Given the description of an element on the screen output the (x, y) to click on. 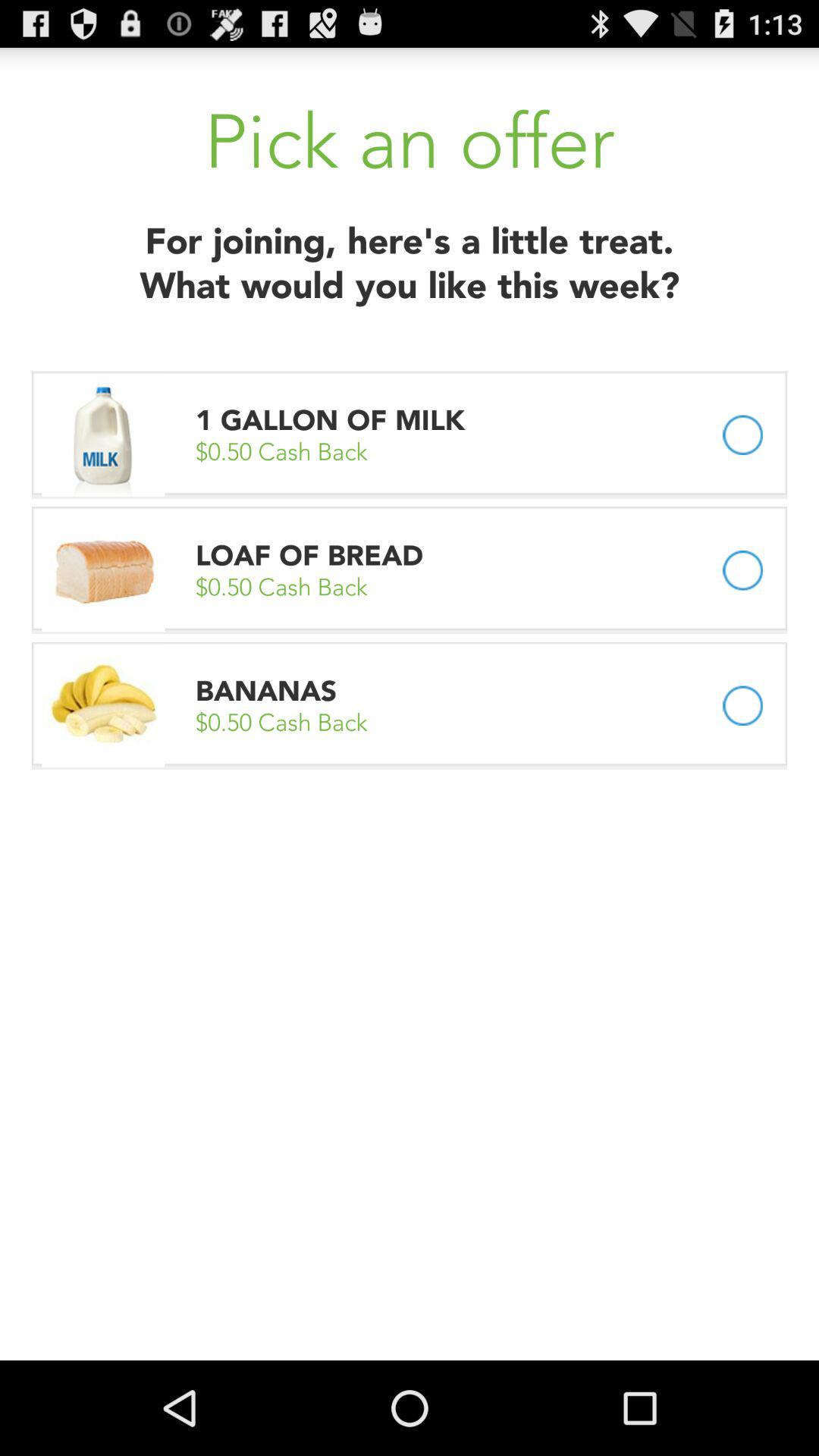
swipe to the loaf of bread app (309, 555)
